Given the description of an element on the screen output the (x, y) to click on. 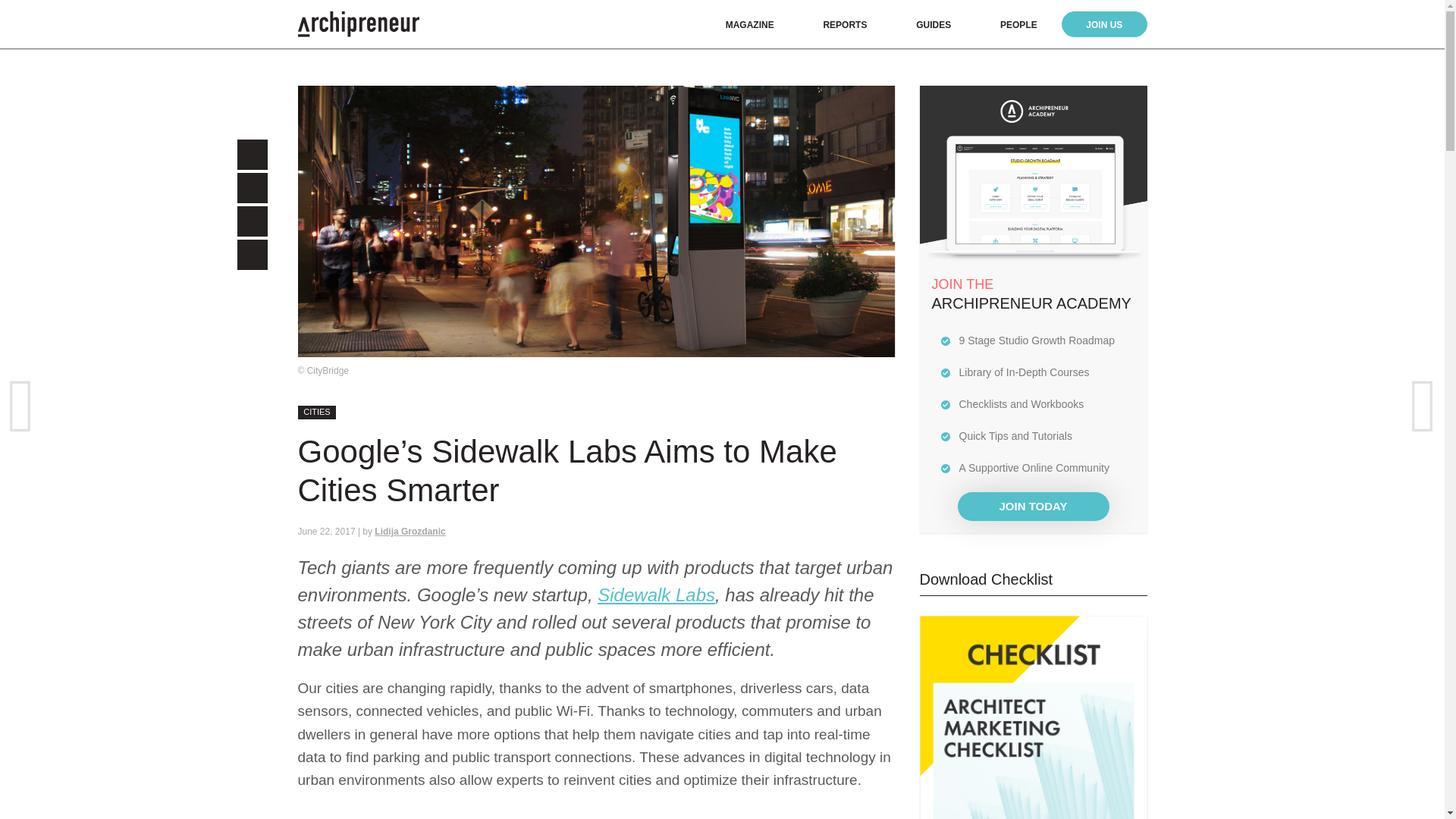
PEOPLE (1018, 24)
PEOPLE (1018, 24)
JOIN US (1104, 23)
Lidija Grozdanic (409, 531)
Sidewalk Labs (655, 594)
MAGAZINE (749, 24)
GUIDES (932, 24)
REPORTS (844, 24)
CITIES (316, 412)
JOIN TODAY (1032, 506)
